Given the description of an element on the screen output the (x, y) to click on. 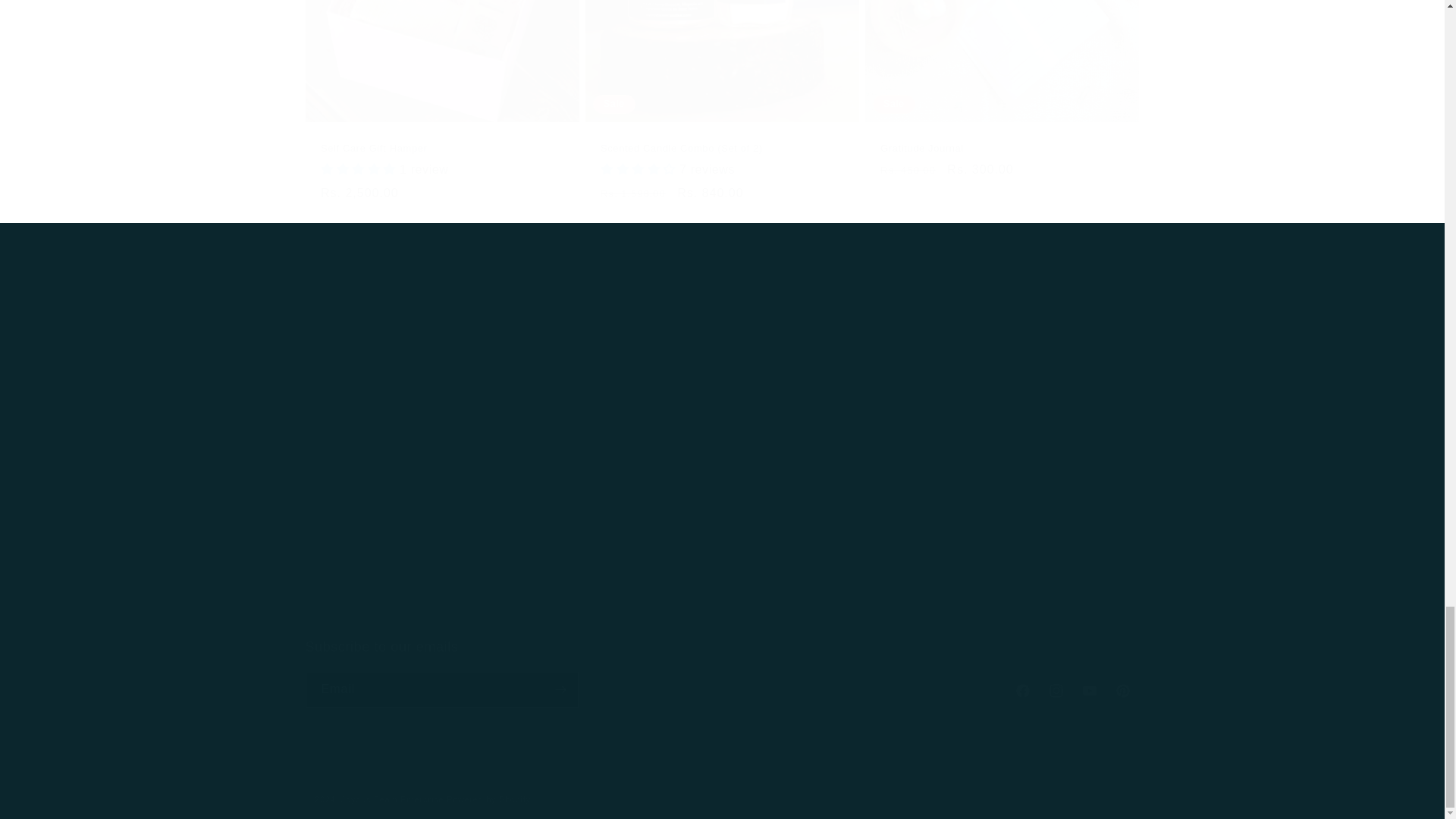
tel:9408056325 (616, 597)
Wedding Gifts (623, 498)
All collections (537, 367)
